Given the description of an element on the screen output the (x, y) to click on. 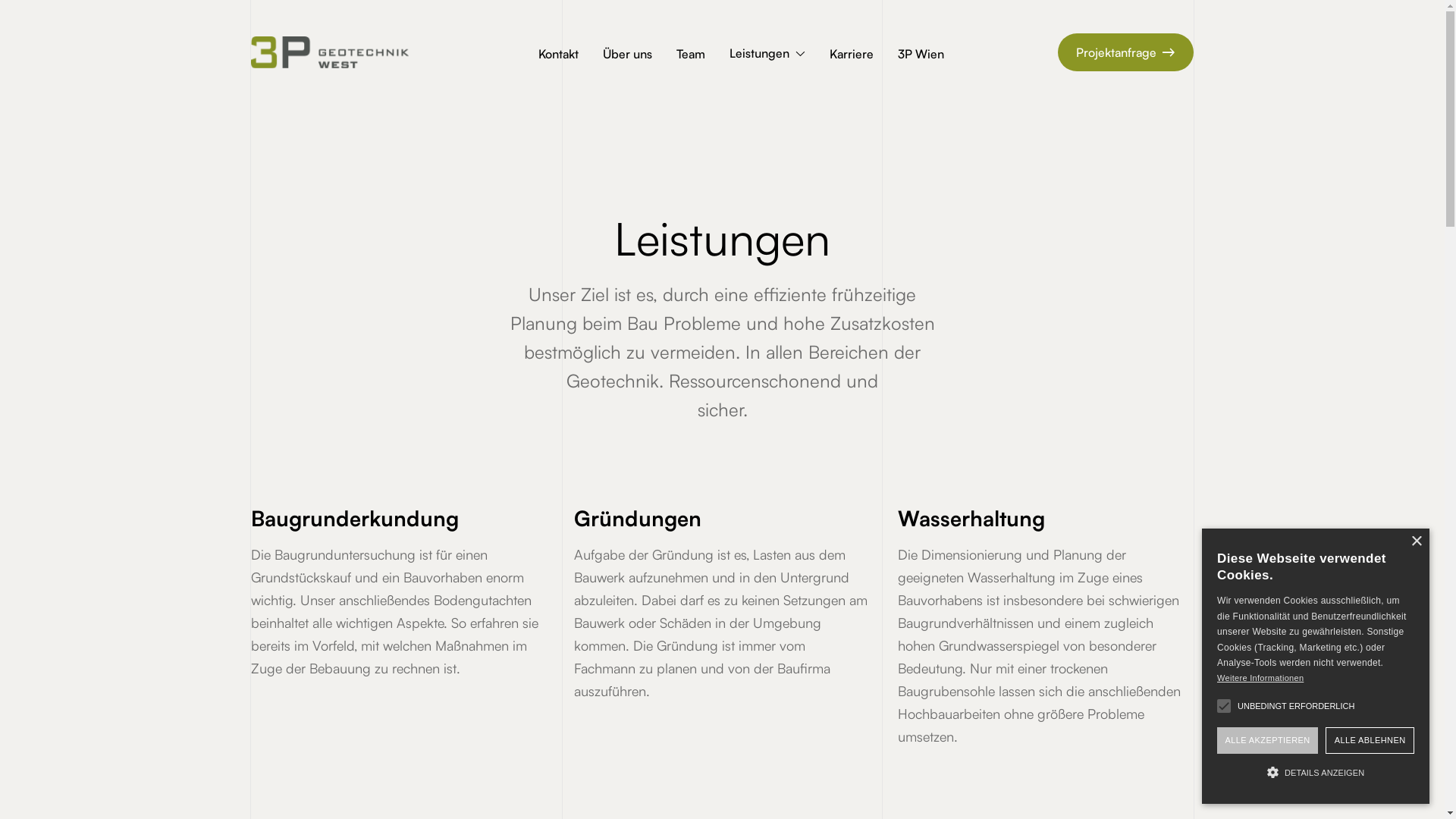
Geschichte Element type: text (681, 489)
Hangsicherungen & Rutschungen Element type: text (1093, 556)
Datenschutz Element type: text (1168, 768)
Team Element type: text (690, 52)
Kontakt Element type: text (671, 522)
Kontakt Element type: text (558, 52)
Karriere / Offene Stellen Element type: text (719, 456)
Karriere Element type: text (851, 52)
Deponiebau Element type: text (1030, 522)
Baugrunduntersuchung Element type: text (1064, 389)
Projektanfrage Element type: text (1041, 626)
3P Wien Element type: text (920, 52)
Impressum Element type: text (1108, 768)
3P Geotechnik West Element type: text (708, 389)
Baumesstechnik Element type: text (1041, 589)
Baugrube Element type: text (1023, 489)
Weitere Informationen Element type: text (1260, 677)
Wasserhaltung Element type: text (1038, 456)
Team Element type: text (664, 422)
